Given the description of an element on the screen output the (x, y) to click on. 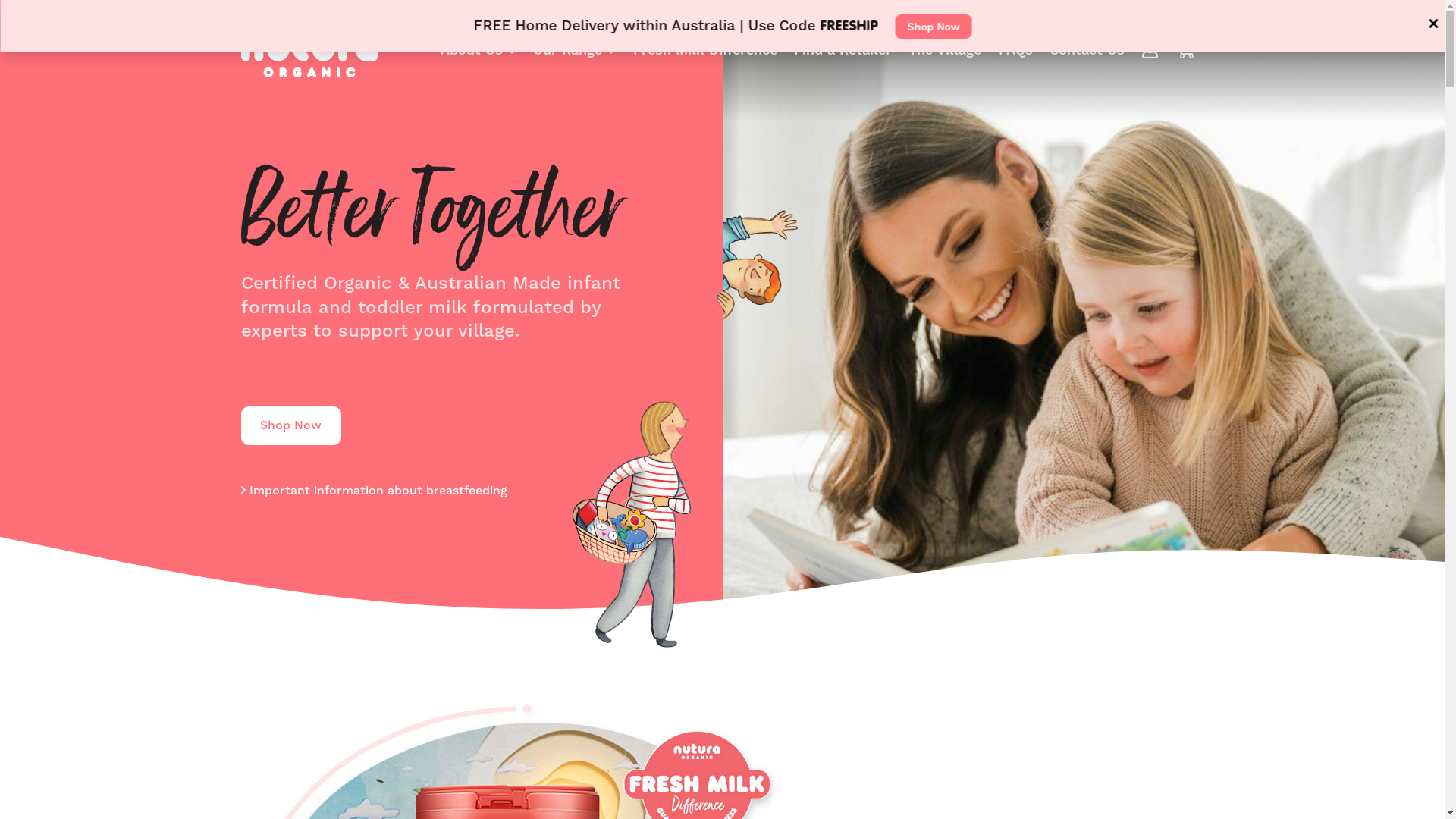
FAQs Element type: text (1015, 49)
Shop Now Element type: text (932, 26)
Fresh Milk Difference Element type: text (705, 49)
Important information about breastfeeding Element type: text (374, 490)
Find a Retailer Element type: text (842, 49)
The Village Element type: text (944, 49)
Contact Us Element type: text (1086, 49)
Close this module Element type: text (1432, 23)
Our Range Element type: text (574, 49)
About Us Element type: text (478, 49)
Shop Now Element type: text (291, 425)
